Given the description of an element on the screen output the (x, y) to click on. 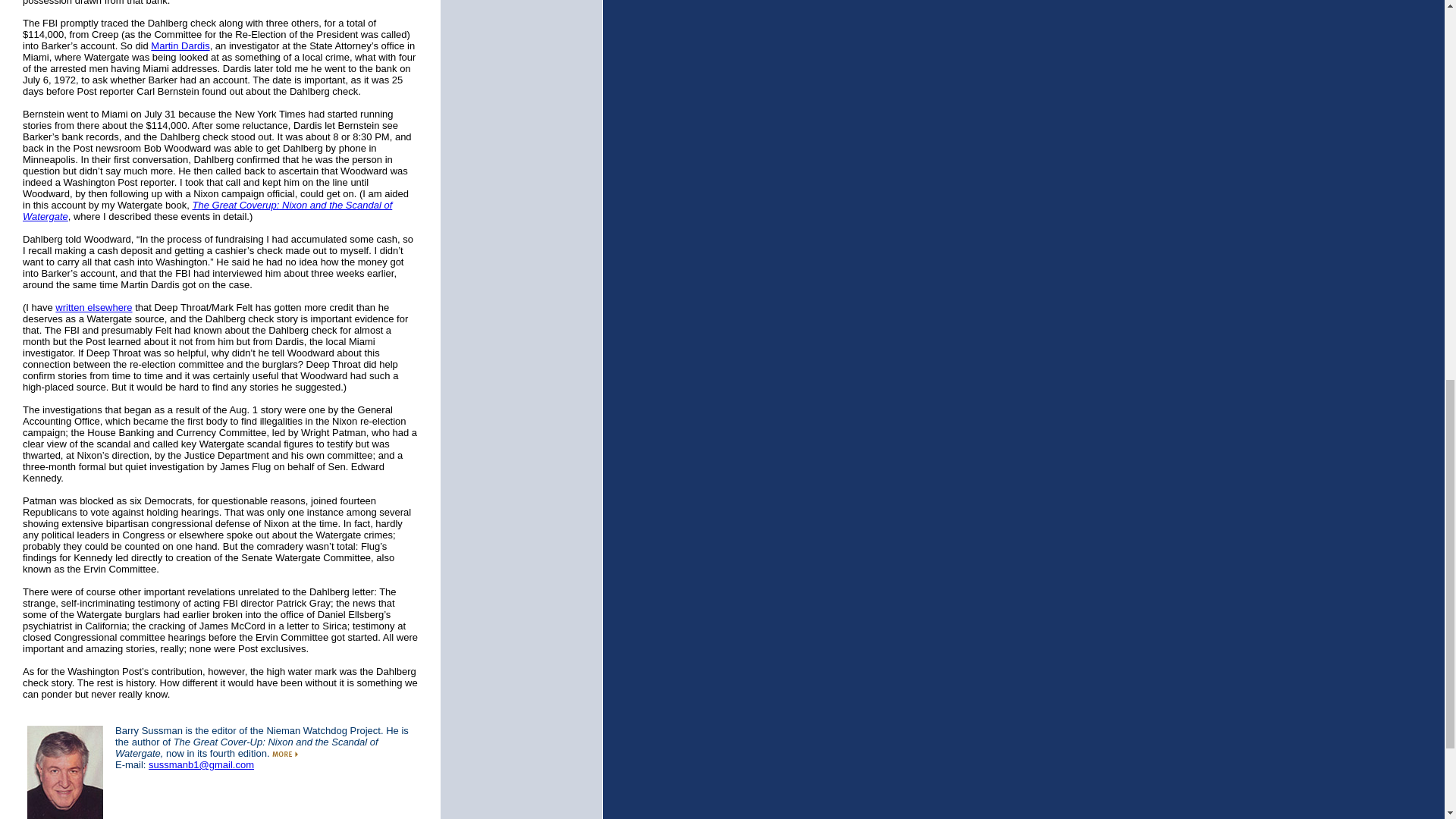
written elsewhere (93, 307)
Martin Dardis (180, 45)
The Great Coverup: Nixon and the Scandal of Watergate (207, 210)
